Given the description of an element on the screen output the (x, y) to click on. 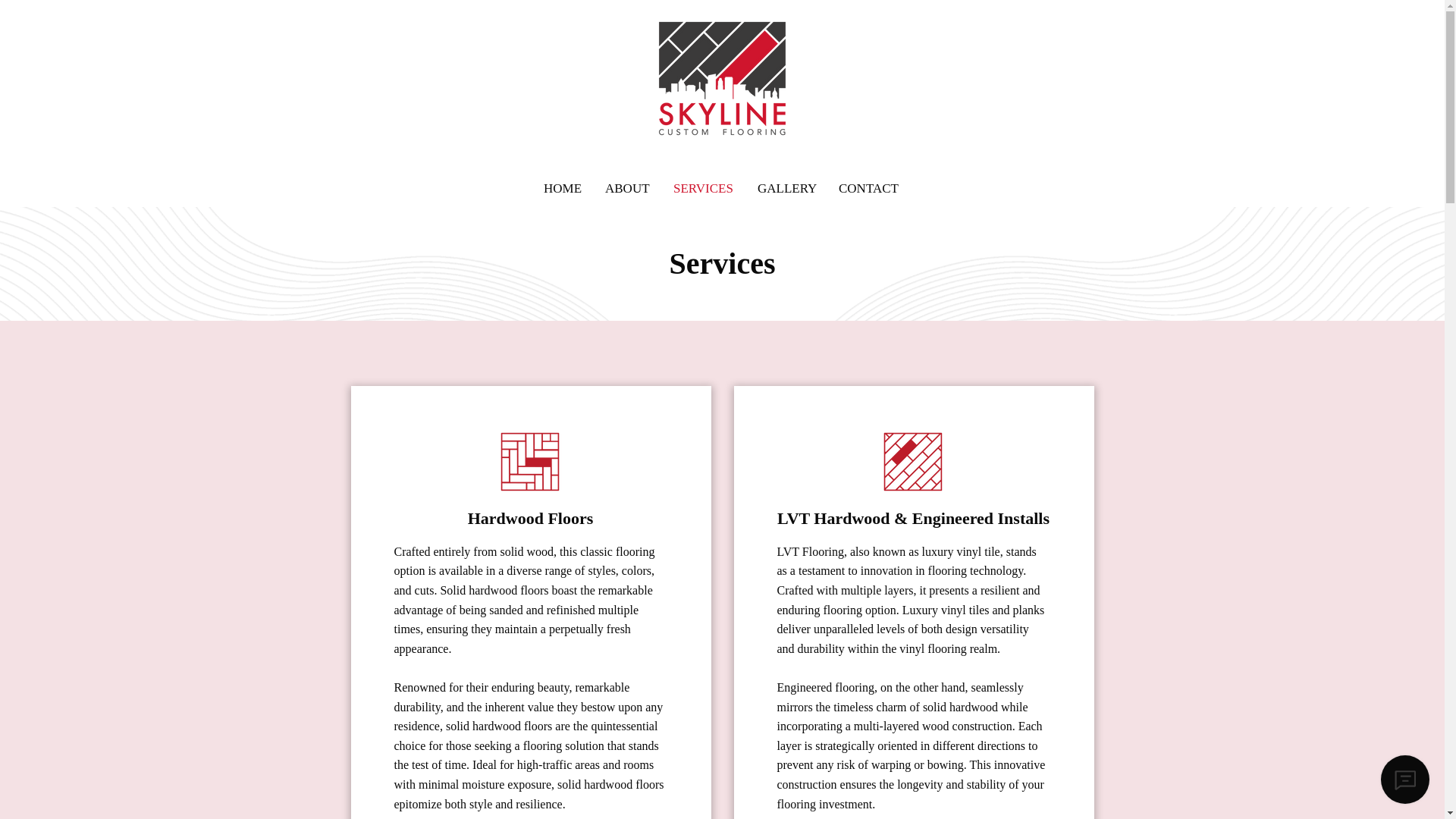
HOME (563, 188)
CONTACT (869, 188)
SERVICES (703, 188)
ABOUT (628, 188)
GALLERY (786, 188)
